Given the description of an element on the screen output the (x, y) to click on. 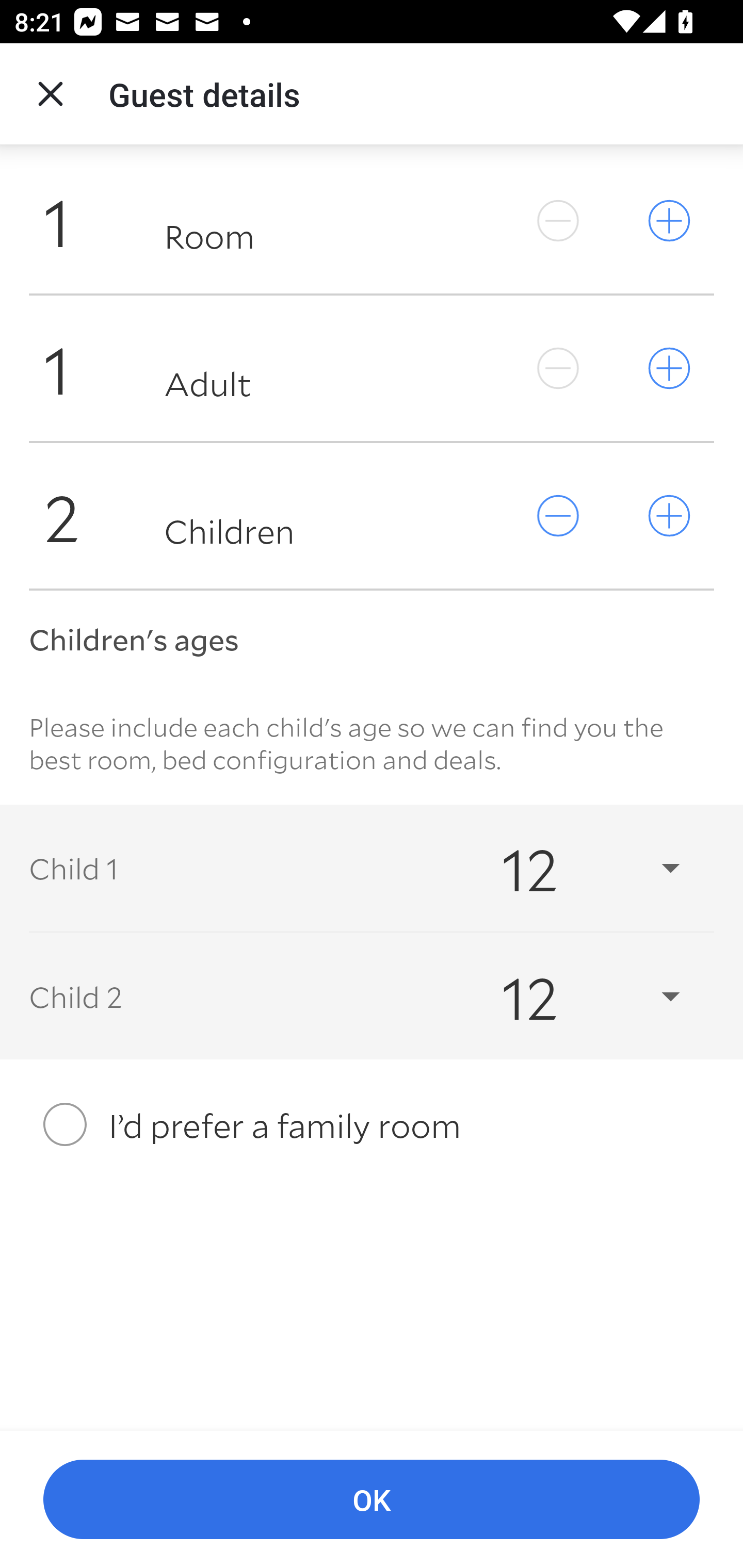
12 (573, 867)
12 (573, 996)
I’d prefer a family room (371, 1124)
OK (371, 1499)
